Given the description of an element on the screen output the (x, y) to click on. 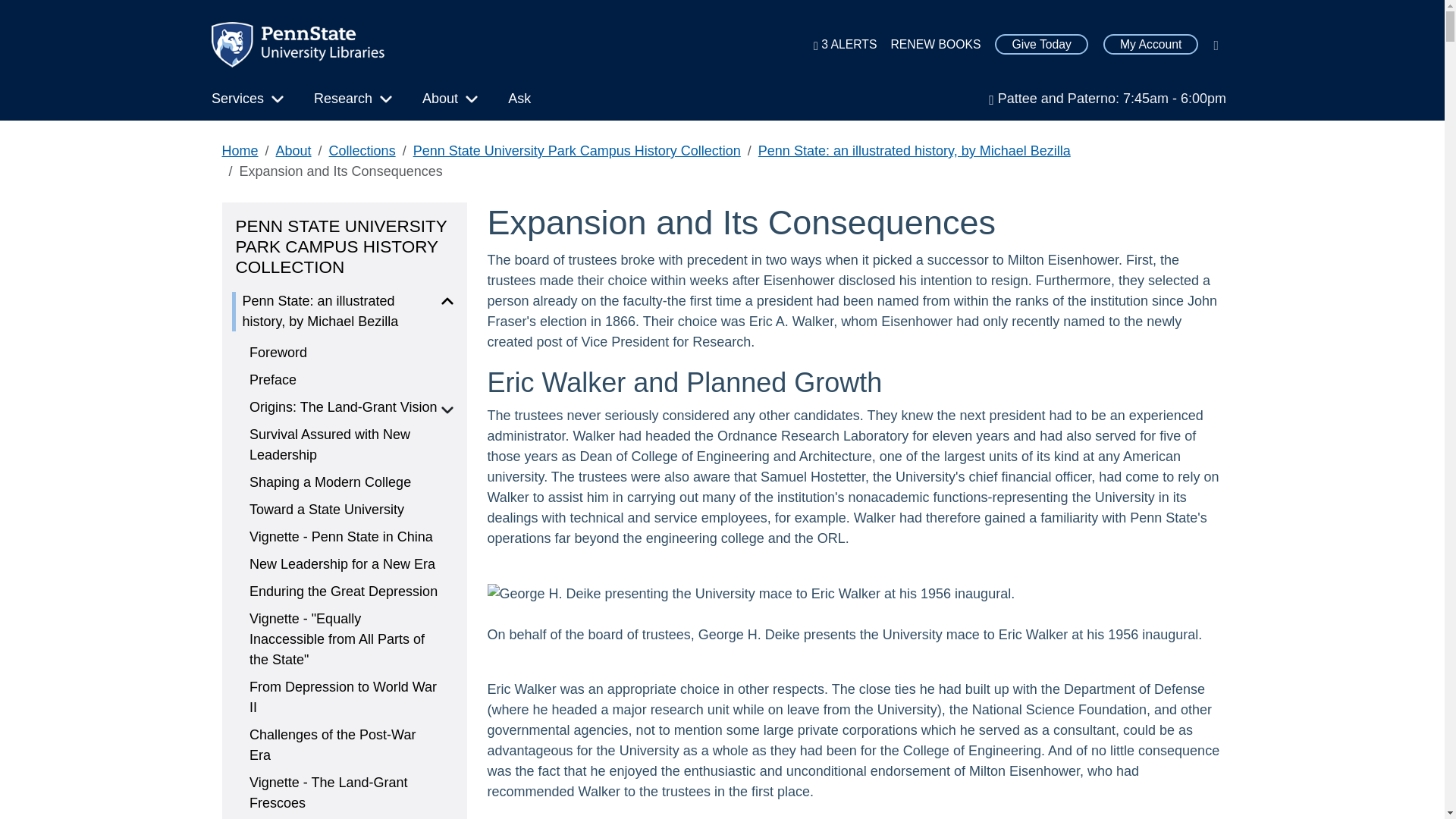
My Account (1150, 44)
3 ALERTS (844, 44)
Expand menu Research (343, 104)
Home (304, 44)
Expand menu About (440, 104)
Expand menu Services (237, 104)
About (440, 104)
Skip to main content (68, 11)
RENEW BOOKS (935, 44)
Services (237, 104)
1288276341619.jpg (750, 593)
Give Today (1040, 44)
Research (343, 104)
